Given the description of an element on the screen output the (x, y) to click on. 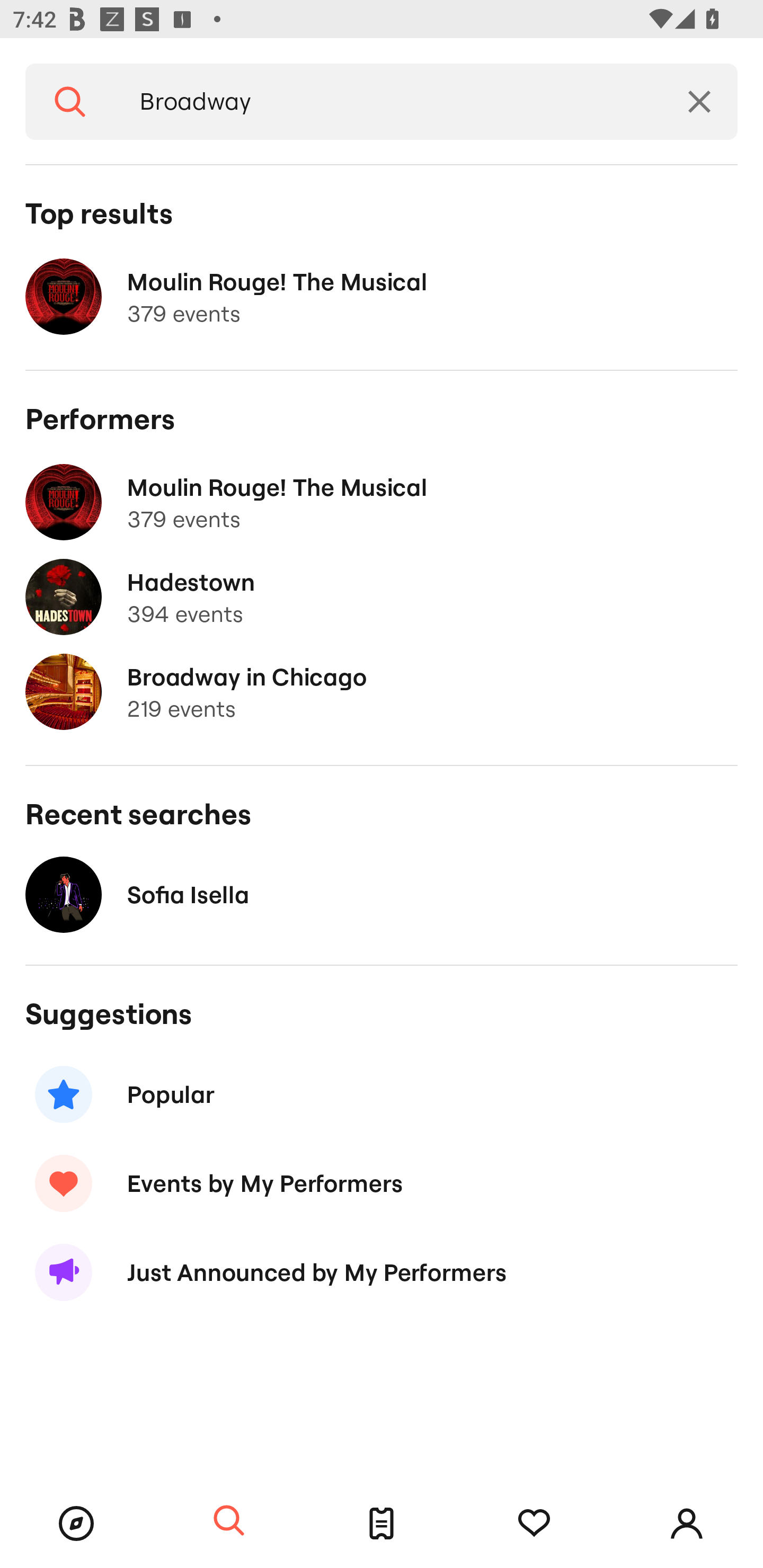
Search (69, 101)
Broadway (387, 101)
Clear (699, 101)
Moulin Rouge! The Musical 379 events (381, 296)
Moulin Rouge! The Musical 379 events (381, 502)
Hadestown 394 events (381, 597)
Broadway in Chicago 219 events (381, 692)
Sofia Isella (381, 894)
Popular (381, 1094)
Events by My Performers (381, 1182)
Just Announced by My Performers (381, 1272)
Browse (76, 1523)
Search (228, 1521)
Tickets (381, 1523)
Tracking (533, 1523)
Account (686, 1523)
